Given the description of an element on the screen output the (x, y) to click on. 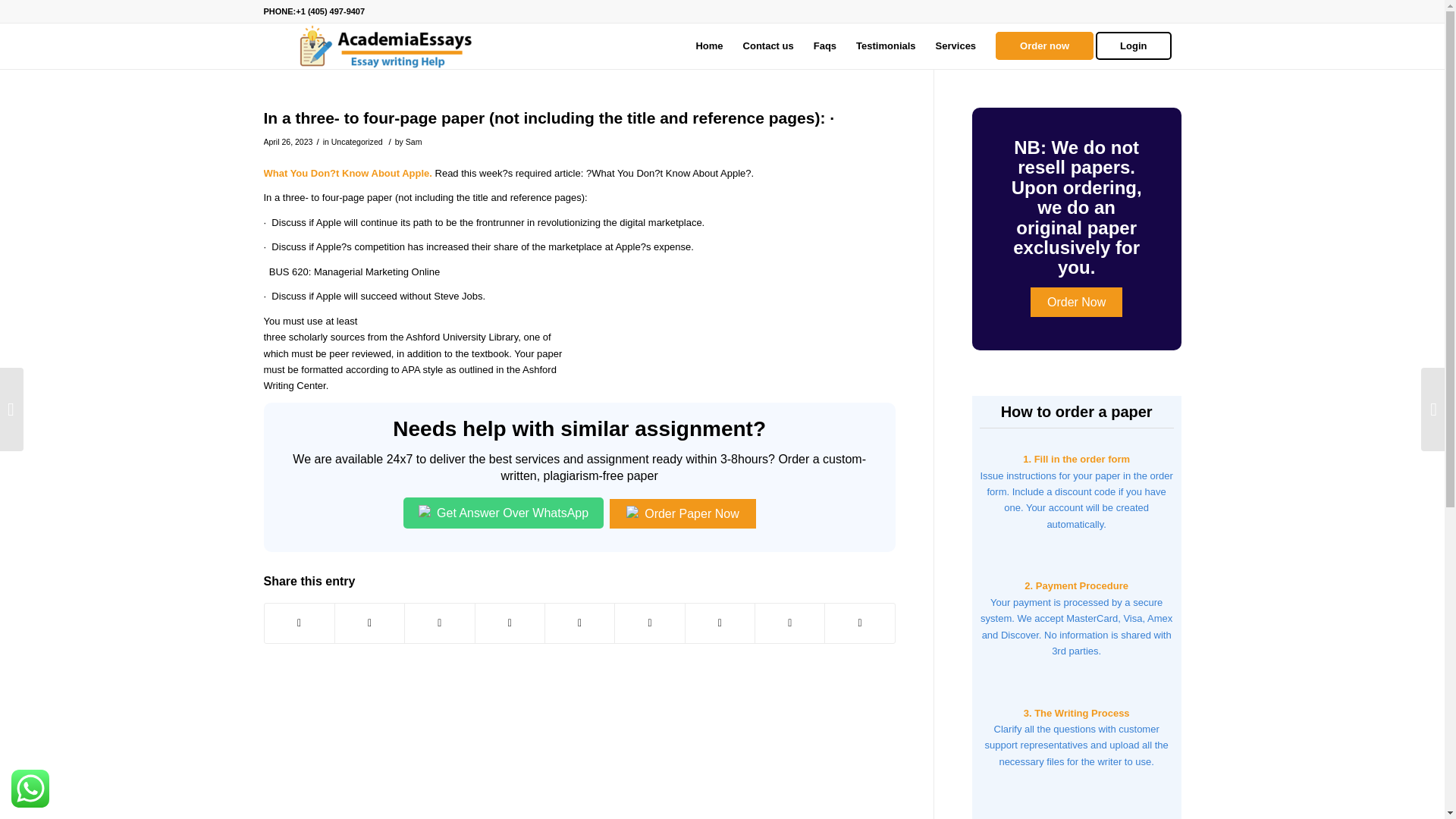
Faqs (824, 45)
Services (956, 45)
Contact us (768, 45)
Order Now (1076, 301)
Testimonials (885, 45)
Order now (1044, 45)
Order Paper Now (682, 513)
Home (708, 45)
Uncategorized (356, 141)
Sam (414, 141)
Get Answer Over WhatsApp (503, 512)
Posts by Sam (414, 141)
Login (1138, 45)
